Given the description of an element on the screen output the (x, y) to click on. 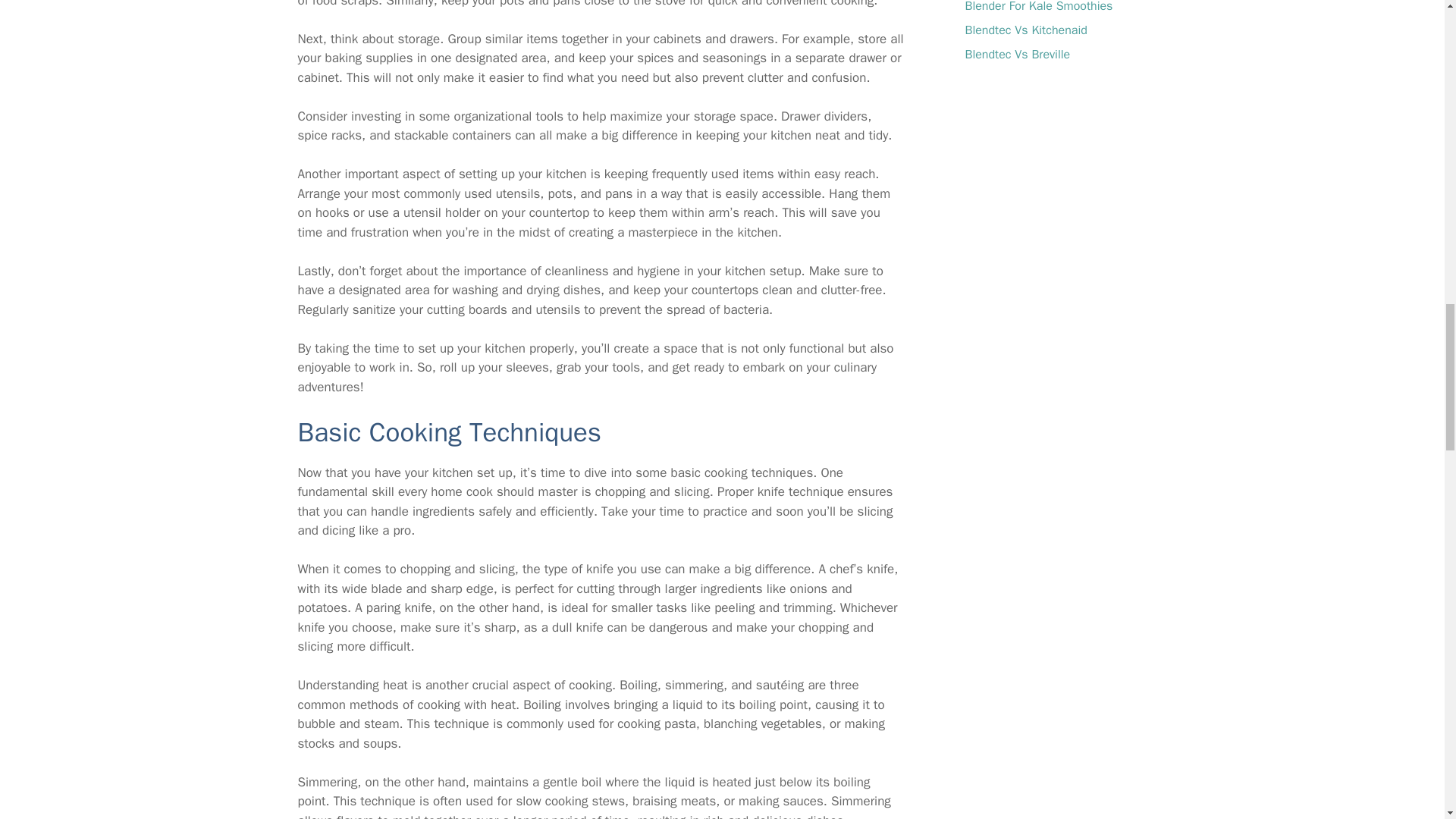
Blender For Kale Smoothies (1037, 6)
Blendtec Vs Kitchenaid (1024, 29)
Blendtec Vs Breville (1016, 54)
